Given the description of an element on the screen output the (x, y) to click on. 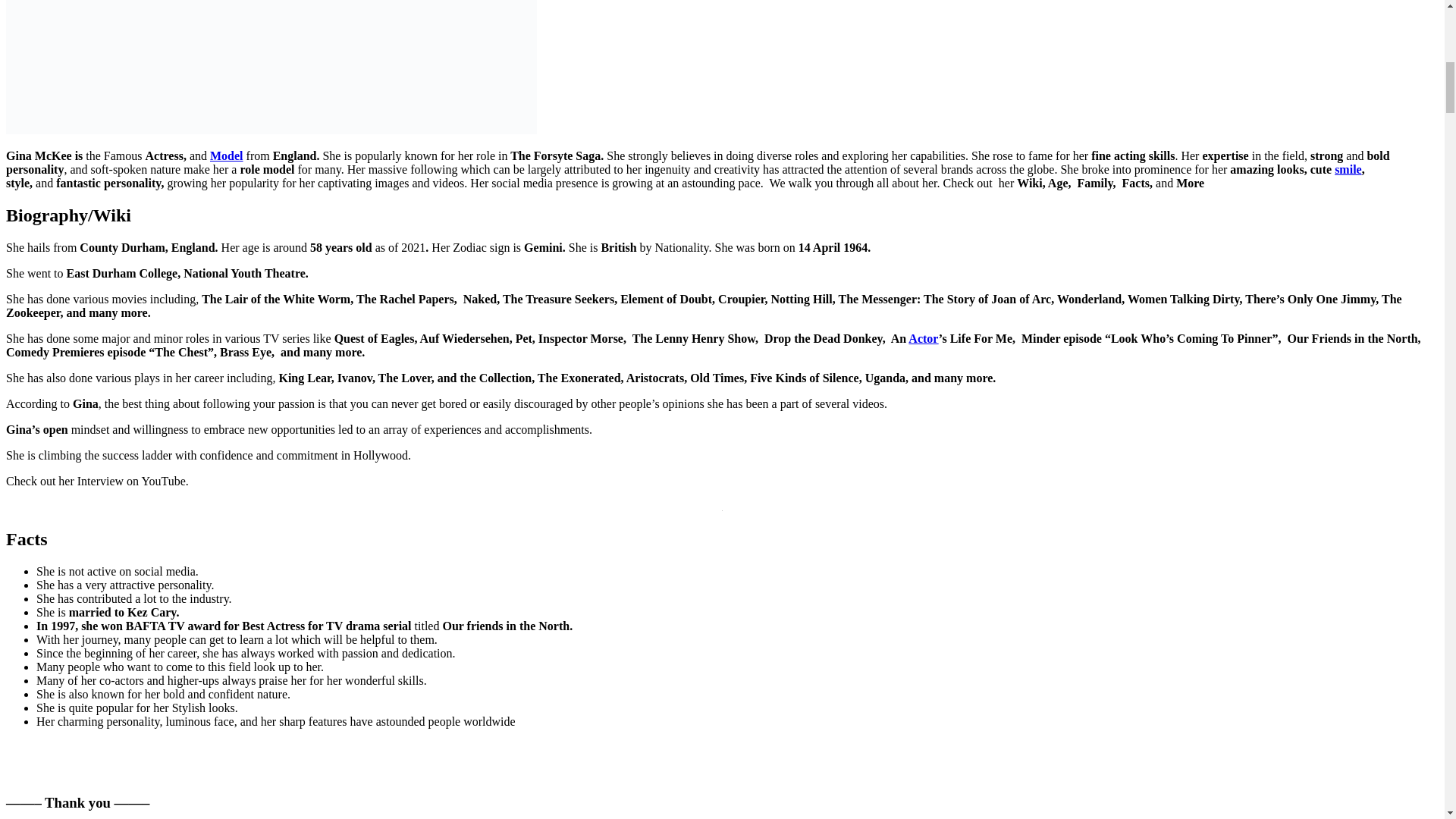
smile (1348, 169)
Antje Utgaard Wiki (226, 155)
Actor (922, 338)
Sam Asghari wiki (922, 338)
Model (226, 155)
Joanna Page Wiki (1348, 169)
